Given the description of an element on the screen output the (x, y) to click on. 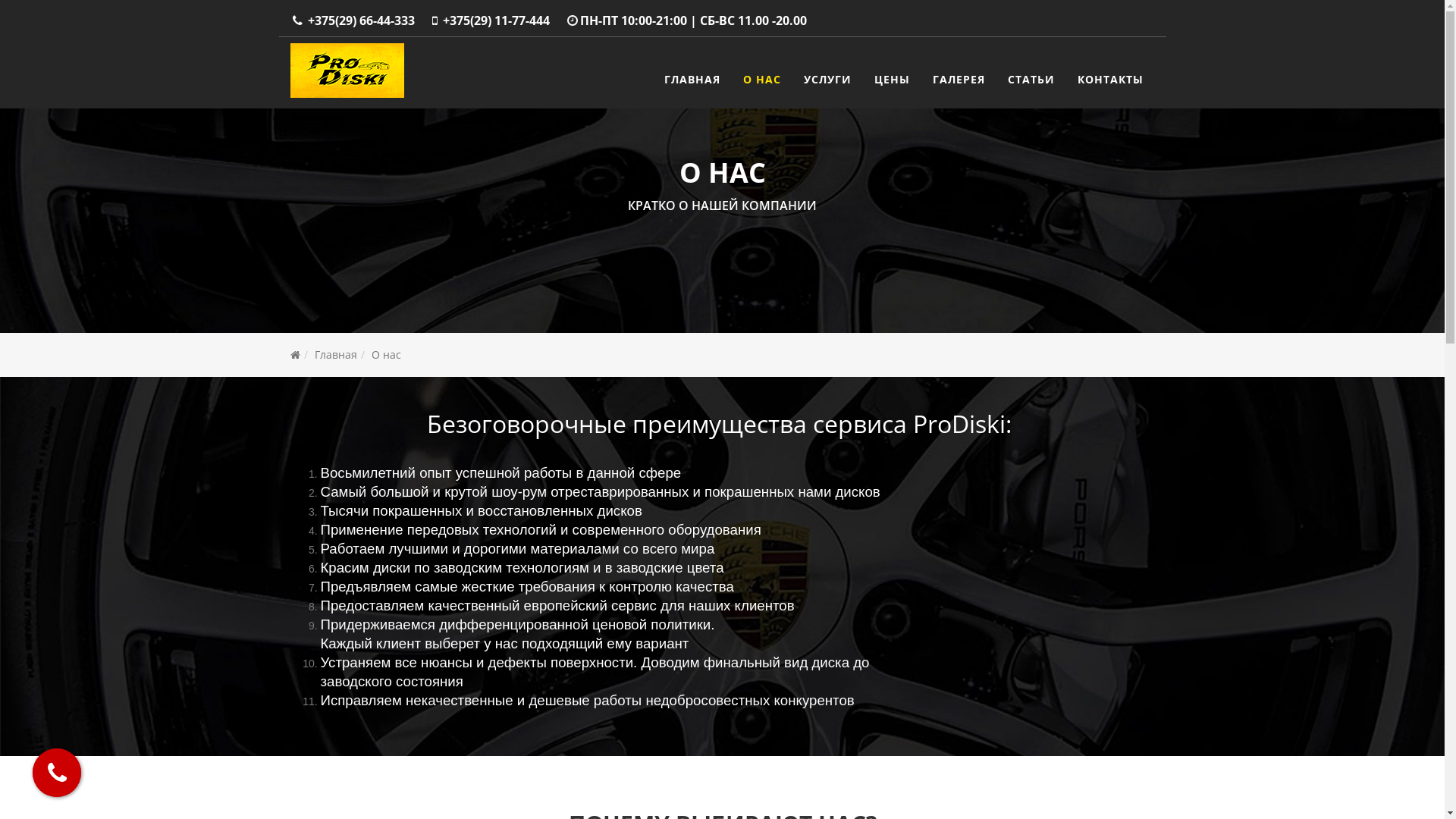
+375(29) 66-44-333 Element type: text (360, 20)
+375(29) 11-77-444 Element type: text (495, 20)
